Given the description of an element on the screen output the (x, y) to click on. 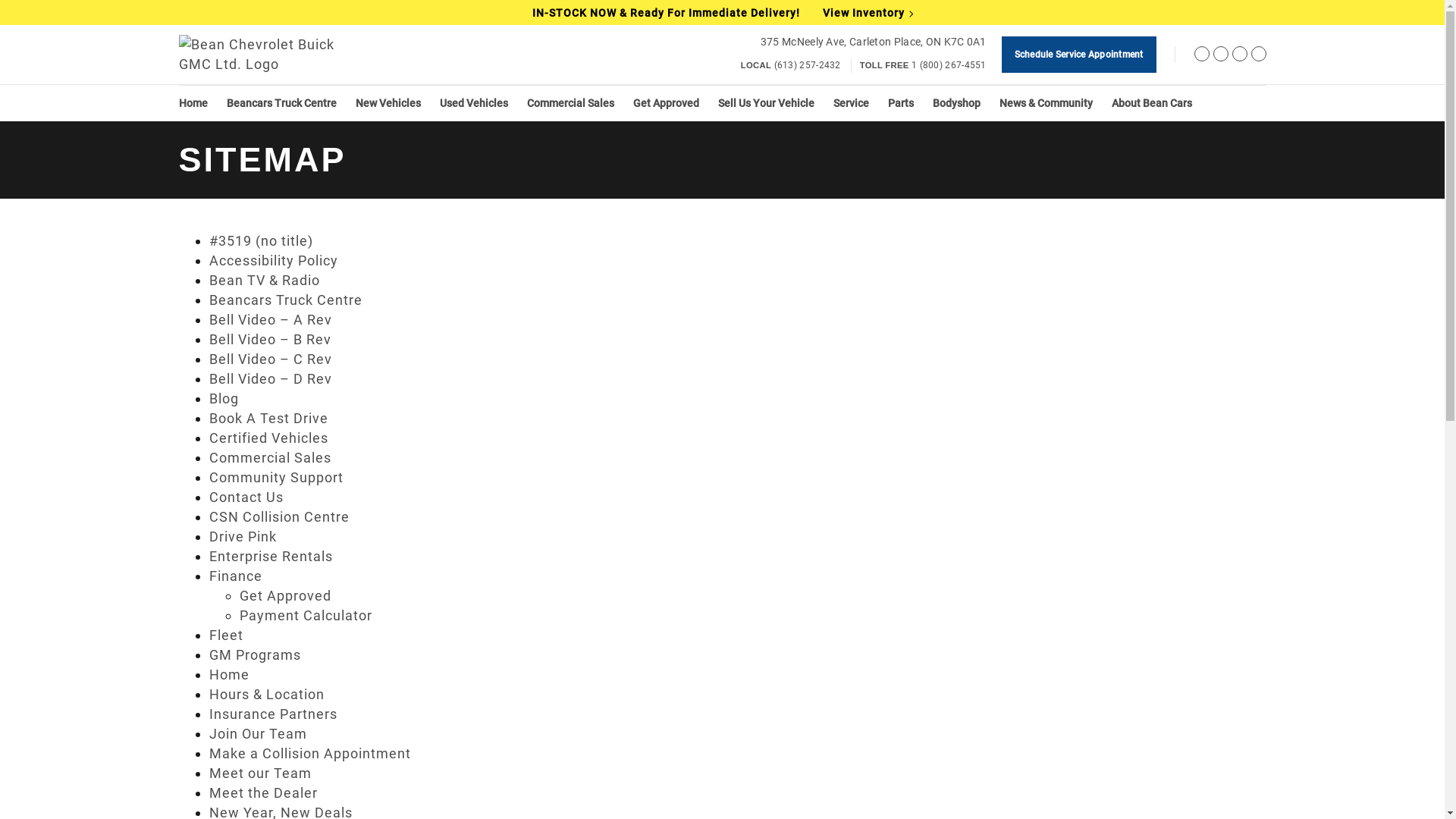
Commercial Sales Element type: text (569, 102)
Bodyshop Element type: text (956, 102)
LOCAL (613) 257-2432 Element type: text (790, 64)
https://www.facebook.com/beancarsca/ Element type: text (1200, 56)
Certified Vehicles Element type: text (268, 437)
Home Element type: text (229, 674)
Fleet Element type: text (226, 635)
Join Our Team Element type: text (258, 733)
Service Element type: text (850, 102)
News & Community Element type: text (1045, 102)
View Inventory Element type: text (867, 12)
Used Vehicles Element type: text (473, 102)
Sell Us Your Vehicle Element type: text (765, 102)
CSN Collision Centre Element type: text (279, 516)
375 McNeely Ave,
Carleton Place, ON K7C 0A1 Element type: text (873, 41)
https://twitter.com/beanchevbuickgm Element type: text (1220, 56)
New Vehicles Element type: text (387, 102)
TOLL FREE 1 (800) 267-4551 Element type: text (922, 64)
Commercial Sales Element type: text (270, 457)
Accessibility Policy Element type: text (273, 260)
Beancars Truck Centre Element type: text (280, 102)
Blog Element type: text (223, 398)
Home Element type: text (192, 102)
Community Support Element type: text (276, 477)
Enterprise Rentals Element type: text (270, 556)
Bean TV & Radio Element type: text (264, 280)
Schedule Service Appointment Element type: text (1078, 54)
Get Approved Element type: text (285, 595)
https://www.instagram.com/beanchevbuickgmc/ Element type: text (1238, 56)
GM Programs Element type: text (255, 654)
Parts Element type: text (900, 102)
Hours & Location Element type: text (266, 694)
https://www.youtube.com/channel/UCMYuVJlSnodwUqm1pVQkKfA Element type: text (1258, 56)
Beancars Truck Centre Element type: text (285, 299)
About Bean Cars Element type: text (1151, 102)
Make a Collision Appointment Element type: text (310, 753)
Meet our Team Element type: text (260, 773)
Finance Element type: text (235, 575)
#3519 (no title) Element type: text (261, 240)
Insurance Partners Element type: text (273, 713)
Contact Us Element type: text (246, 497)
Payment Calculator Element type: text (305, 615)
Book A Test Drive Element type: text (268, 418)
Drive Pink Element type: text (242, 536)
Meet the Dealer Element type: text (263, 792)
Get Approved Element type: text (665, 102)
